Given the description of an element on the screen output the (x, y) to click on. 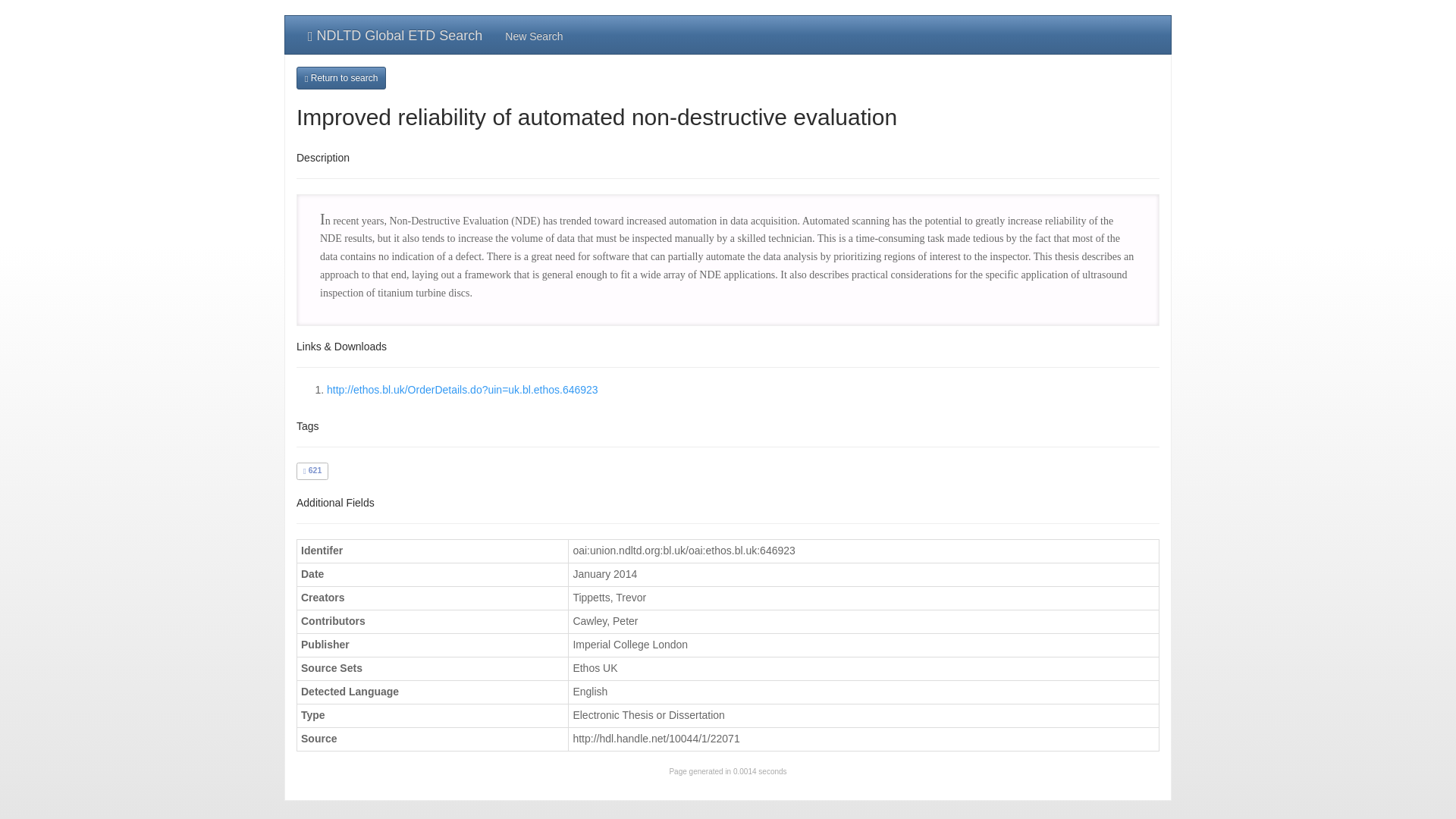
Return to search (341, 77)
621 (311, 470)
NDLTD Global ETD Search (395, 34)
New Search (533, 34)
